Given the description of an element on the screen output the (x, y) to click on. 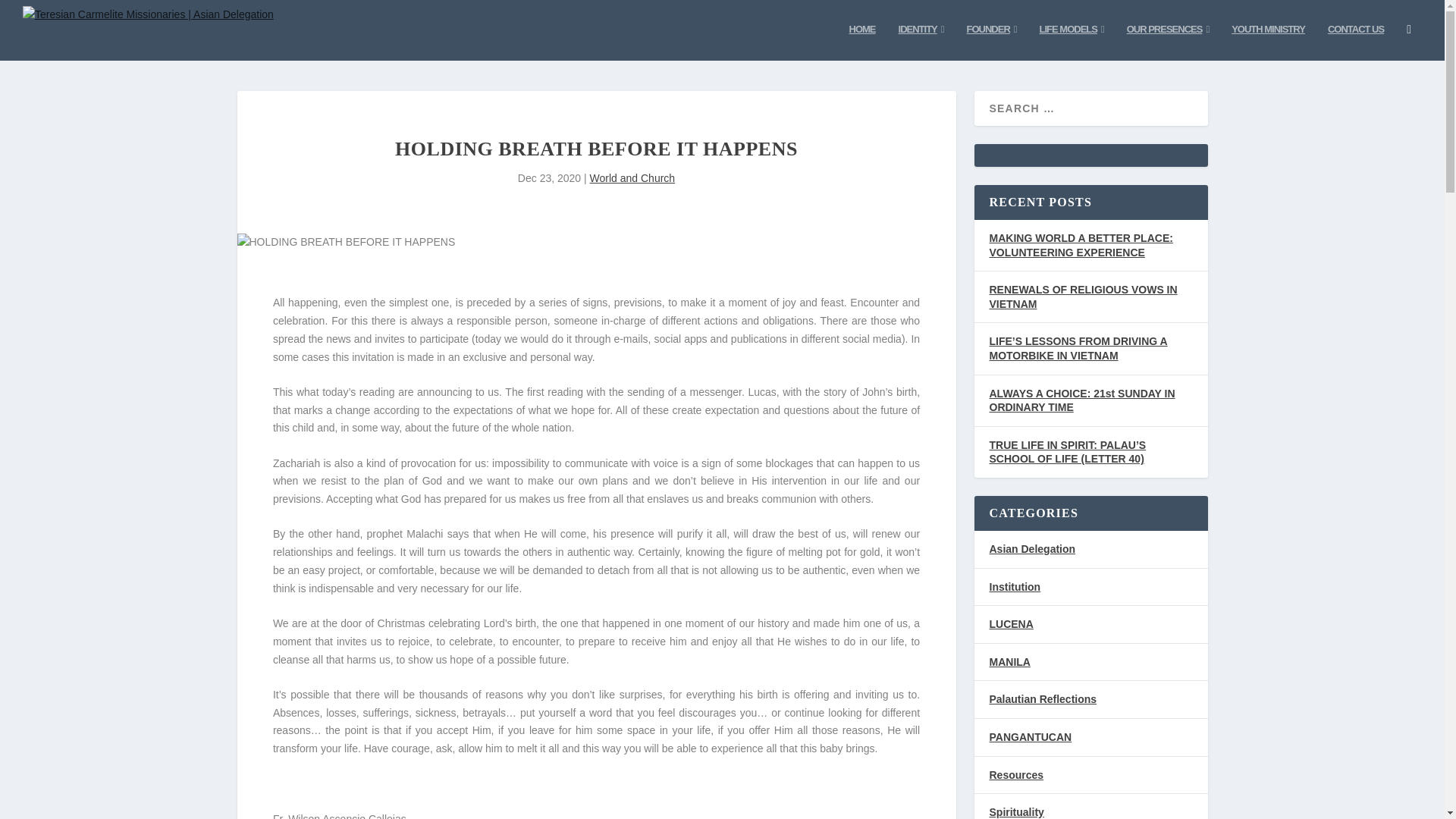
IDENTITY (920, 41)
FOUNDER (991, 41)
World and Church (632, 177)
YOUTH MINISTRY (1267, 41)
LIFE MODELS (1071, 41)
OUR PRESENCES (1167, 41)
CONTACT US (1355, 41)
